Given the description of an element on the screen output the (x, y) to click on. 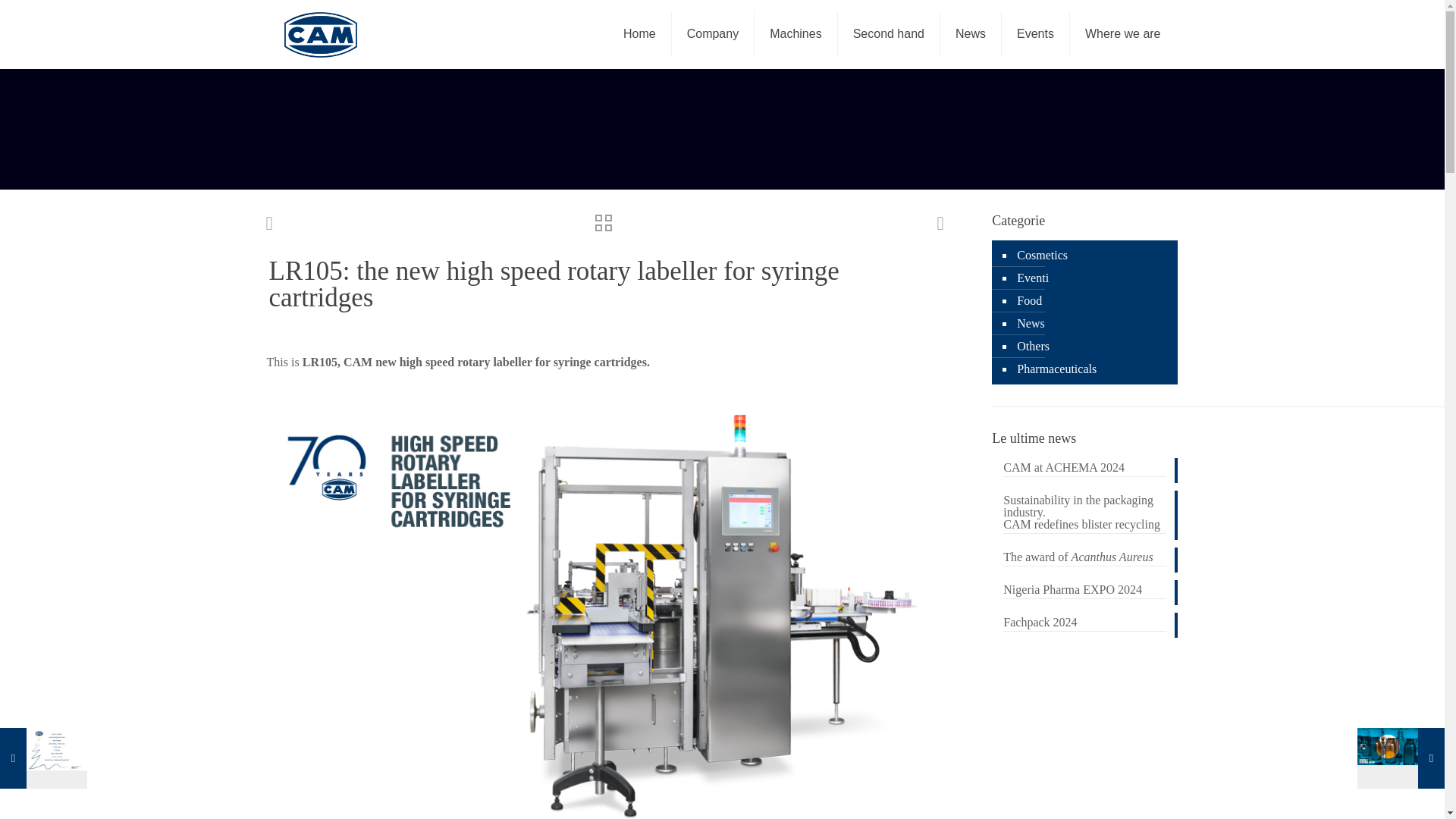
Machines (795, 33)
CAM Automatic Machines (319, 33)
Company (712, 33)
Home (639, 33)
